Given the description of an element on the screen output the (x, y) to click on. 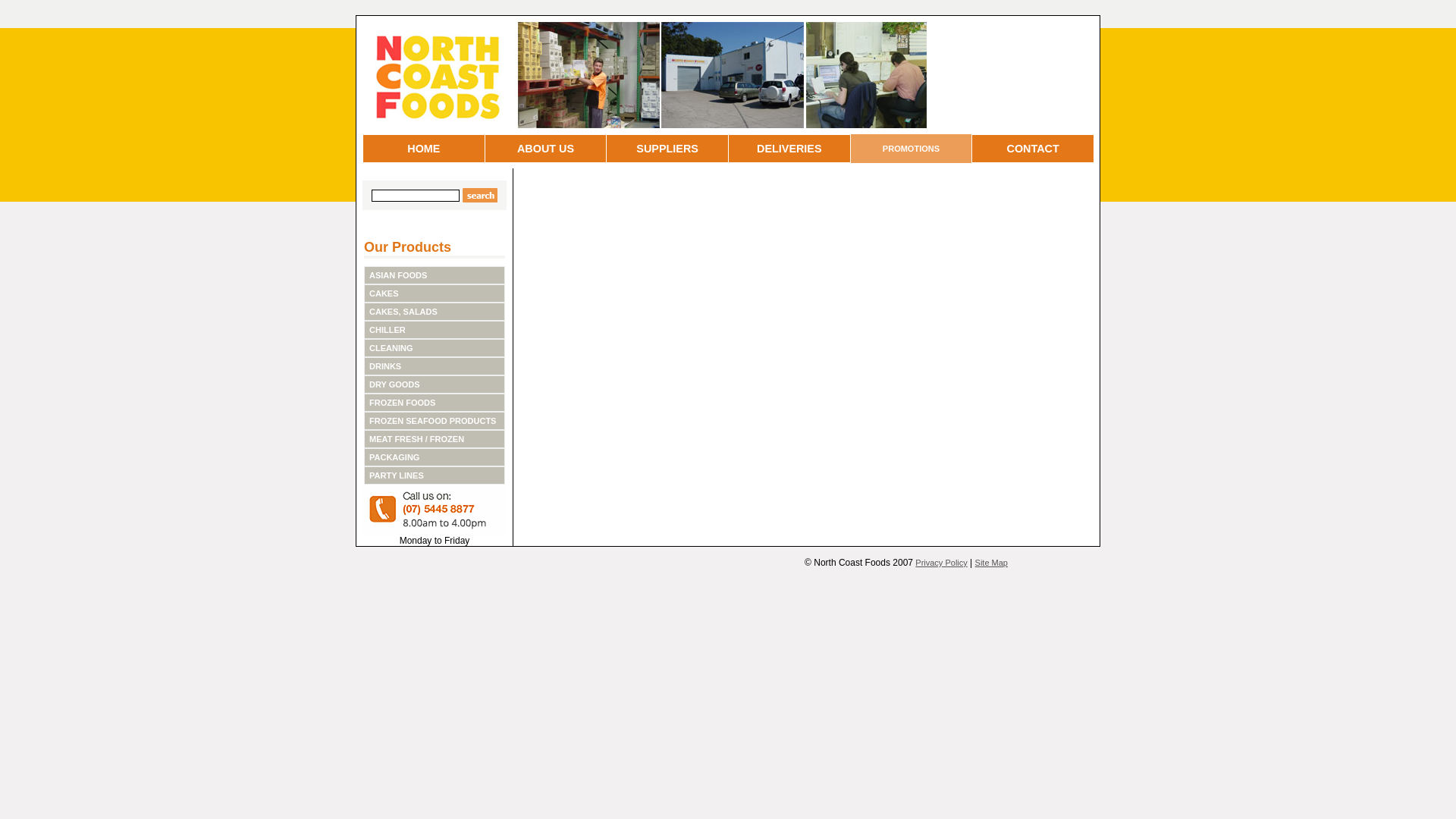
SUPPLIERS Element type: text (666, 148)
HOME Element type: text (423, 148)
CLEANING Element type: text (390, 347)
FROZEN FOODS Element type: text (402, 402)
DELIVERIES Element type: text (789, 148)
CAKES Element type: text (383, 293)
PACKAGING Element type: text (394, 456)
ASIAN FOODS Element type: text (397, 274)
Site Map Element type: text (991, 562)
ABOUT US Element type: text (545, 148)
CONTACT Element type: text (1032, 148)
MEAT FRESH / FROZEN Element type: text (416, 438)
FROZEN SEAFOOD PRODUCTS Element type: text (432, 420)
PARTY LINES Element type: text (396, 475)
Privacy Policy Element type: text (940, 562)
PROMOTIONS Element type: text (911, 148)
DRY GOODS Element type: text (394, 384)
DRINKS Element type: text (385, 365)
CAKES, SALADS Element type: text (403, 311)
CHILLER Element type: text (387, 329)
